Given the description of an element on the screen output the (x, y) to click on. 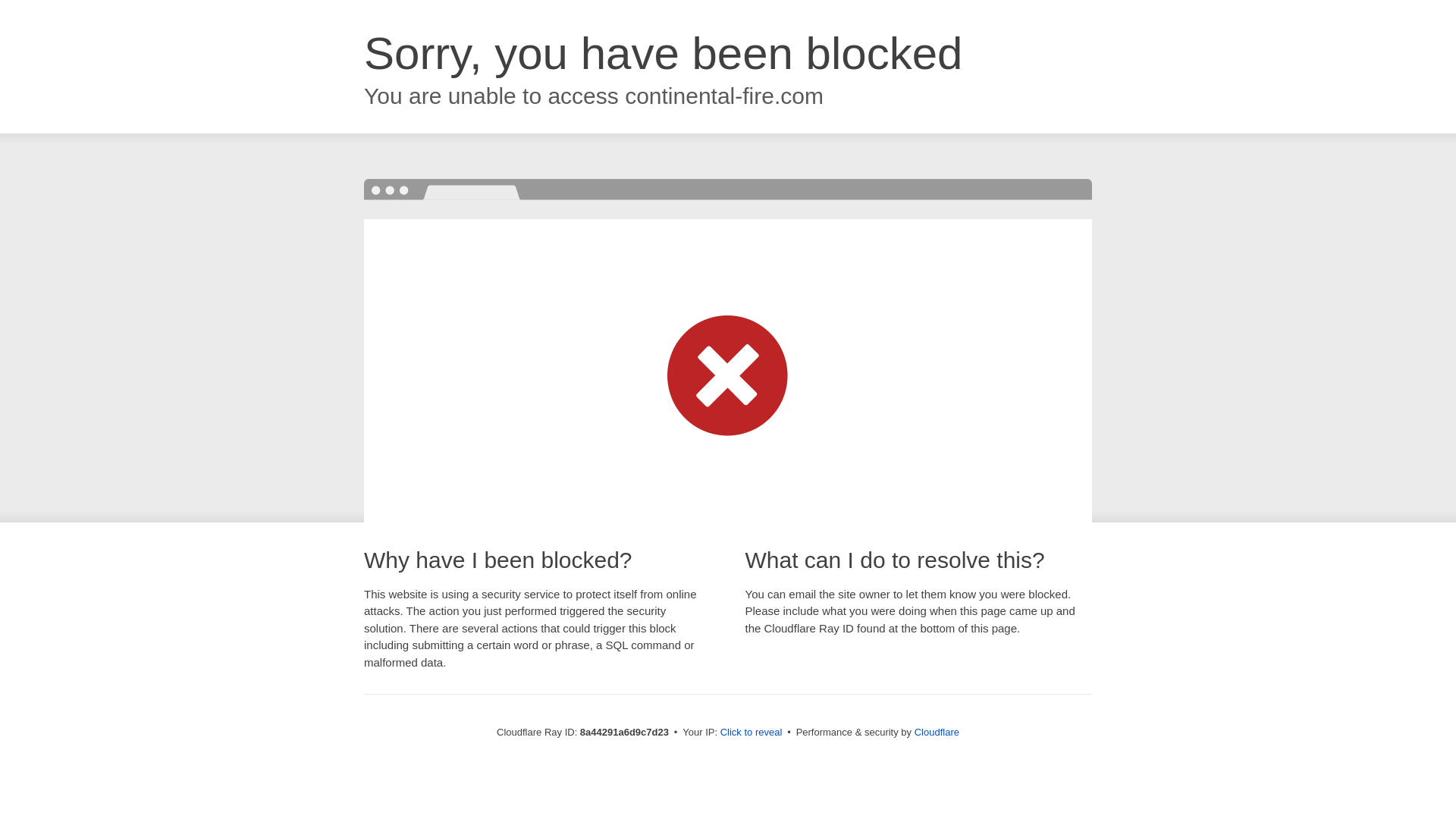
Click to reveal (751, 732)
Cloudflare (936, 731)
